Given the description of an element on the screen output the (x, y) to click on. 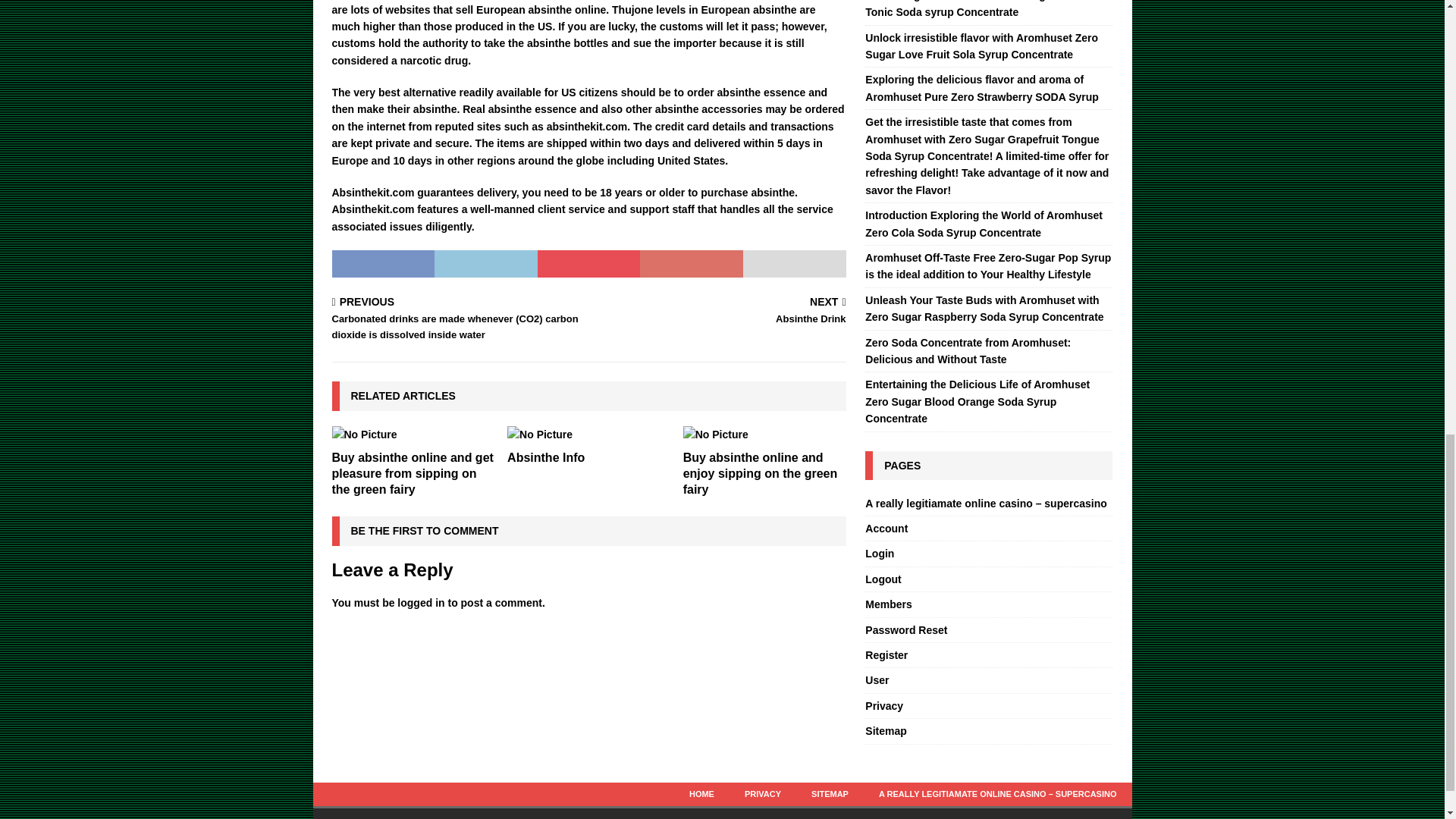
Absinthe Info (545, 457)
logged in (420, 603)
Buy absinthe online and enjoy sipping on the green fairy (720, 311)
